Given the description of an element on the screen output the (x, y) to click on. 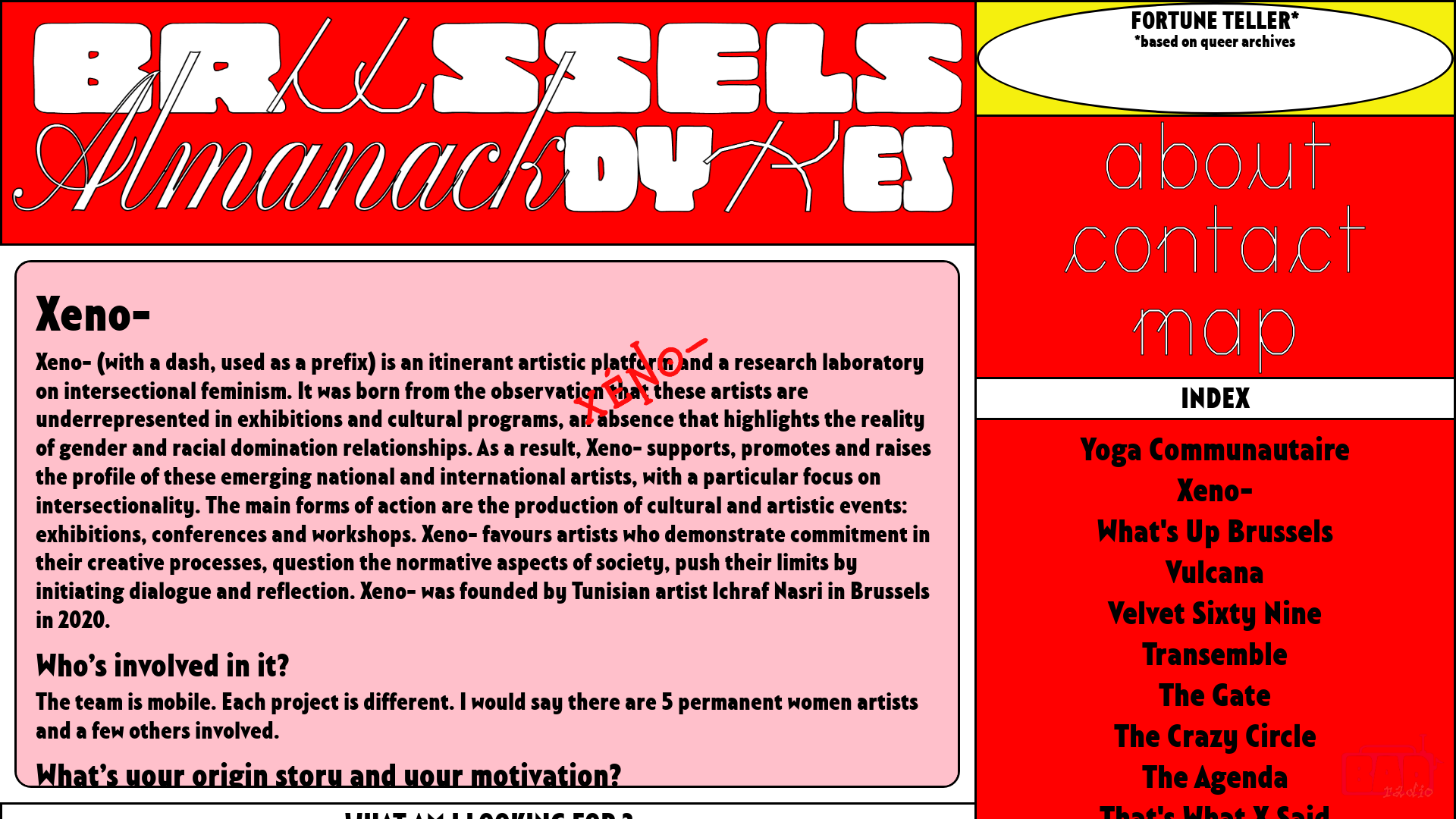
Velvet Sixty Nine Element type: text (1214, 613)
INDEX Element type: text (1214, 398)
FORTUNE TELLER* Element type: text (1214, 20)
What's Up Brussels Element type: text (1214, 531)
Xeno- Element type: text (1214, 490)
contact Element type: text (1214, 228)
The Gate Element type: text (1214, 695)
Transemble Element type: text (1214, 654)
Vulcana Element type: text (1214, 572)
The Agenda Element type: text (1215, 777)
The Crazy Circle Element type: text (1214, 736)
about Element type: text (1214, 145)
Yoga Communautaire Element type: text (1214, 449)
map Element type: text (1214, 311)
